Given the description of an element on the screen output the (x, y) to click on. 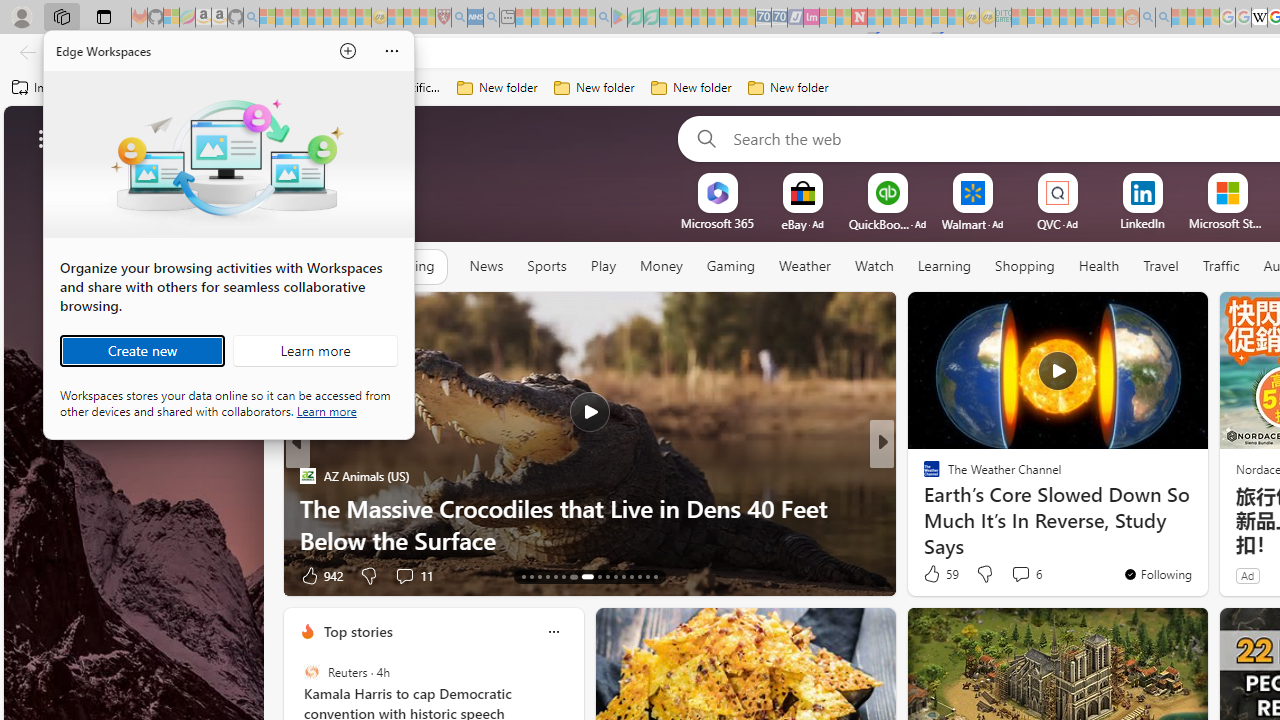
View comments 6 Comment (1019, 573)
35 Like (934, 574)
Target page - Wikipedia (1259, 17)
Latest Politics News & Archive | Newsweek.com - Sleeping (859, 17)
AutomationID: tab-22 (606, 576)
